Given the description of an element on the screen output the (x, y) to click on. 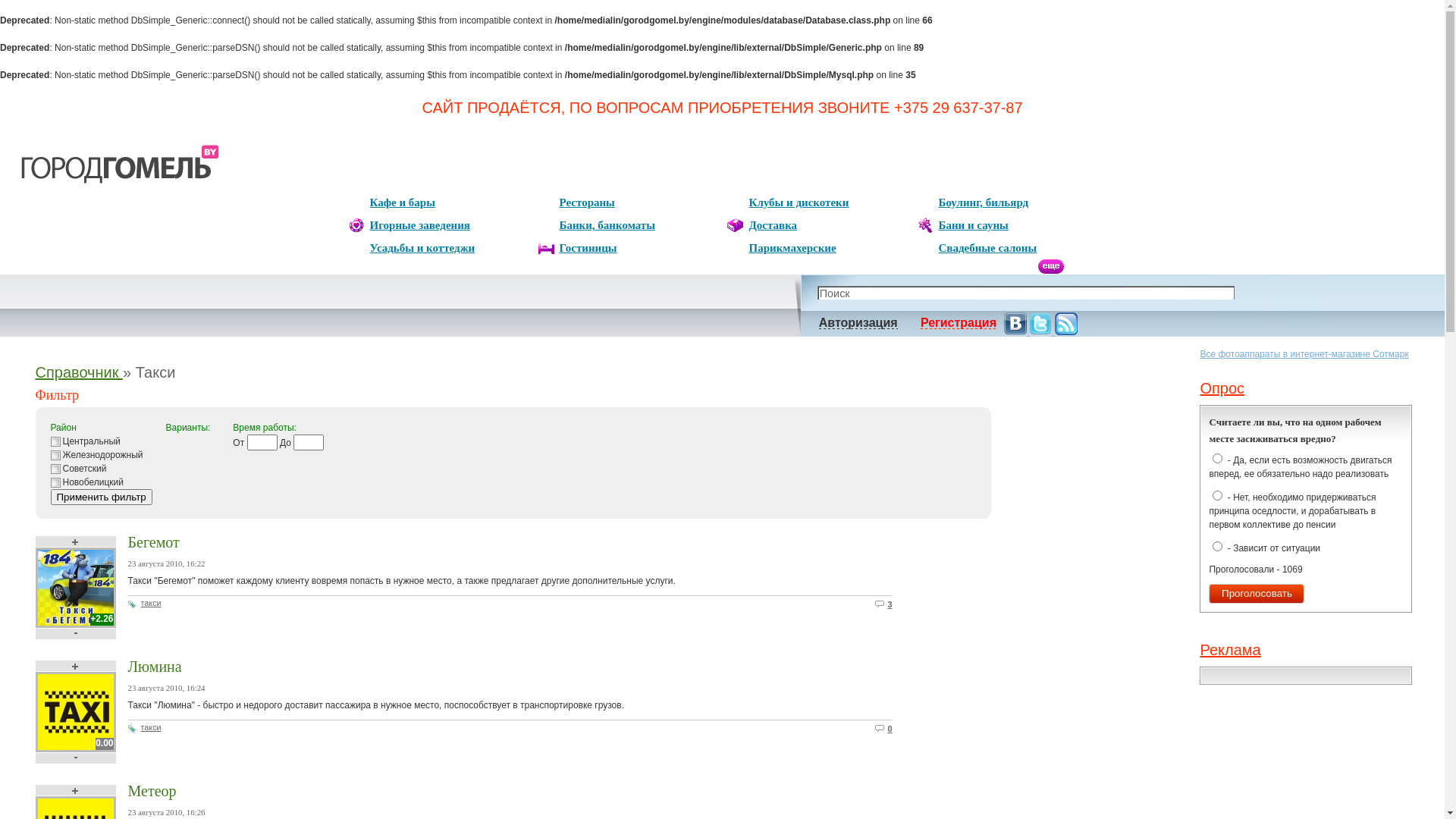
3 Element type: text (890, 604)
0 Element type: text (890, 728)
